Given the description of an element on the screen output the (x, y) to click on. 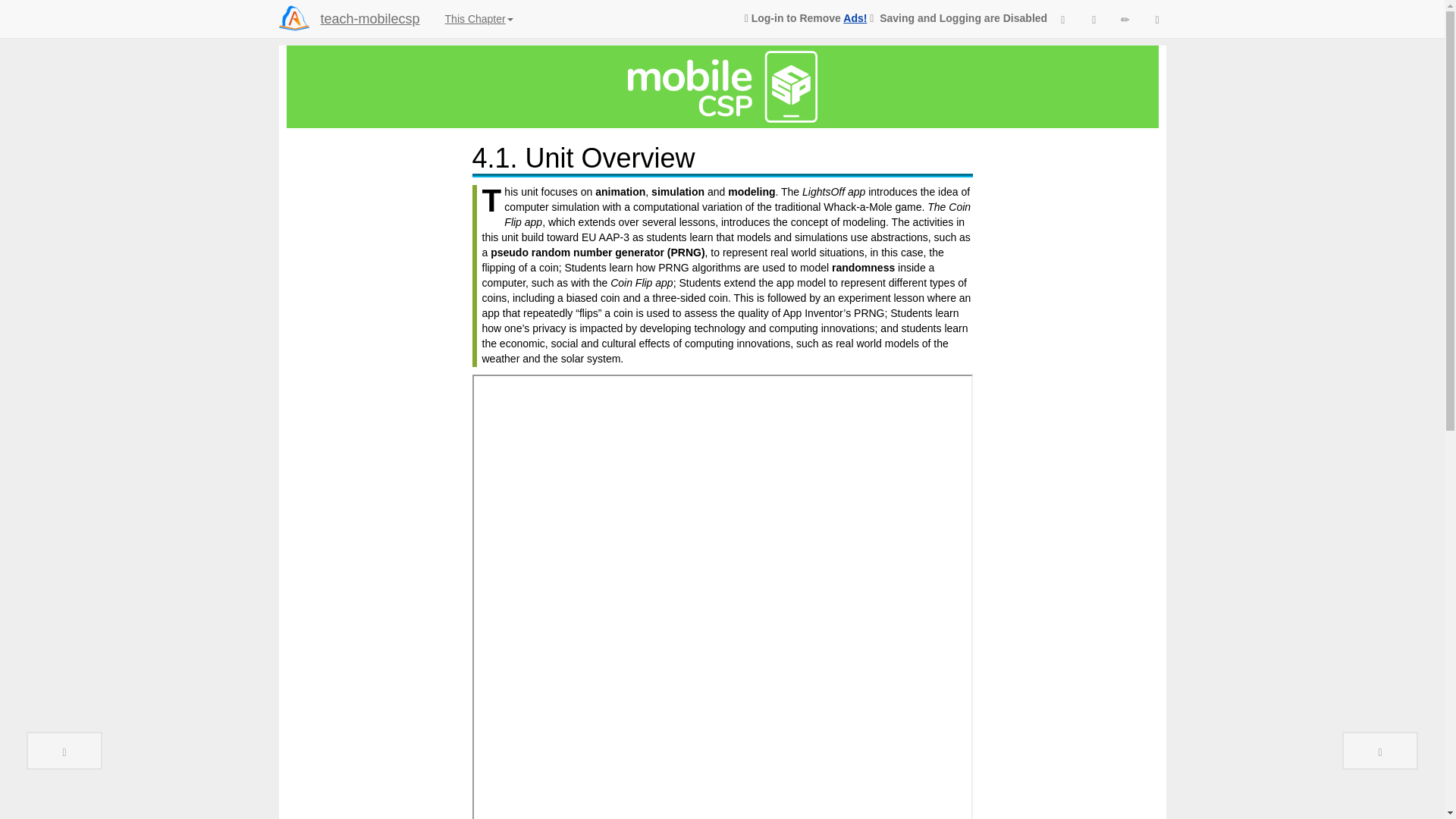
Next Section - 4.2. LightsOff Tutorial (1380, 750)
Ads! (854, 18)
This Chapter (478, 18)
teach-mobilecsp (369, 18)
